Given the description of an element on the screen output the (x, y) to click on. 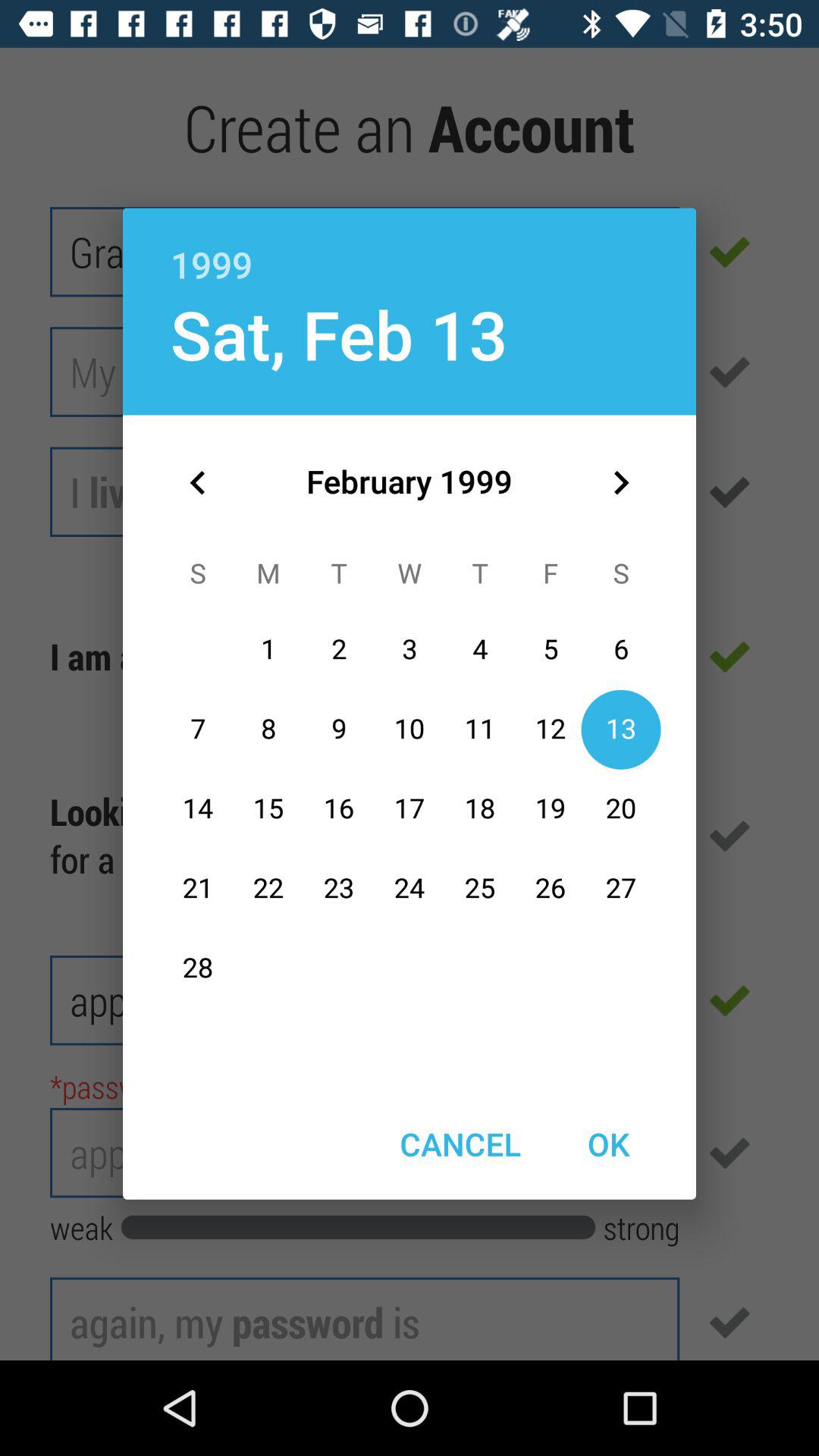
launch the ok at the bottom right corner (608, 1143)
